Given the description of an element on the screen output the (x, y) to click on. 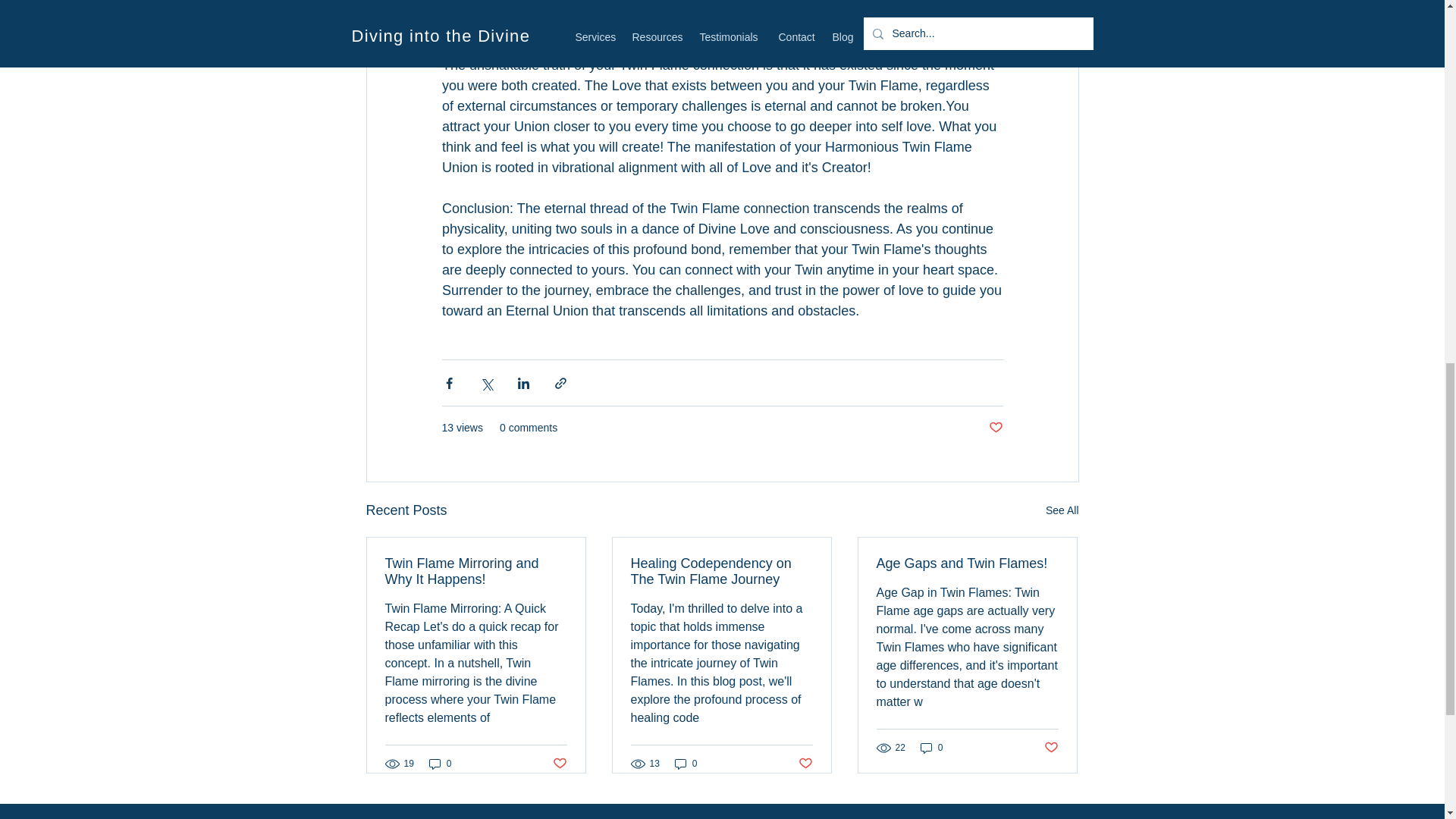
Post not marked as liked (804, 763)
0 (685, 763)
Twin Flame Mirroring and Why It Happens! (476, 572)
0 (931, 747)
Age Gaps and Twin Flames! (967, 563)
0 (440, 763)
Healing Codependency on The Twin Flame Journey (721, 572)
Post not marked as liked (558, 763)
Post not marked as liked (1050, 747)
Post not marked as liked (995, 427)
See All (1061, 510)
